Given the description of an element on the screen output the (x, y) to click on. 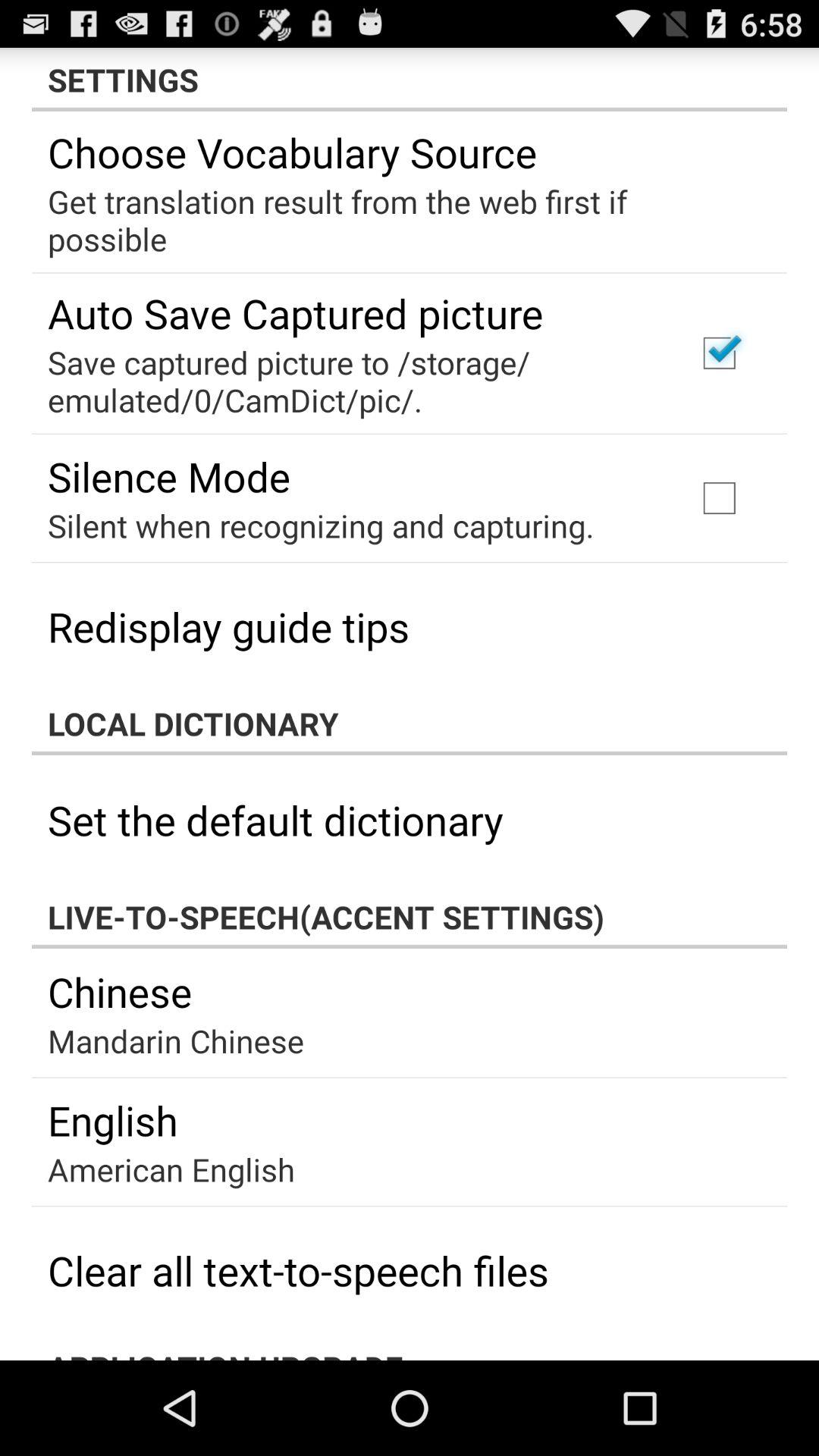
jump to choose vocabulary source item (291, 151)
